Given the description of an element on the screen output the (x, y) to click on. 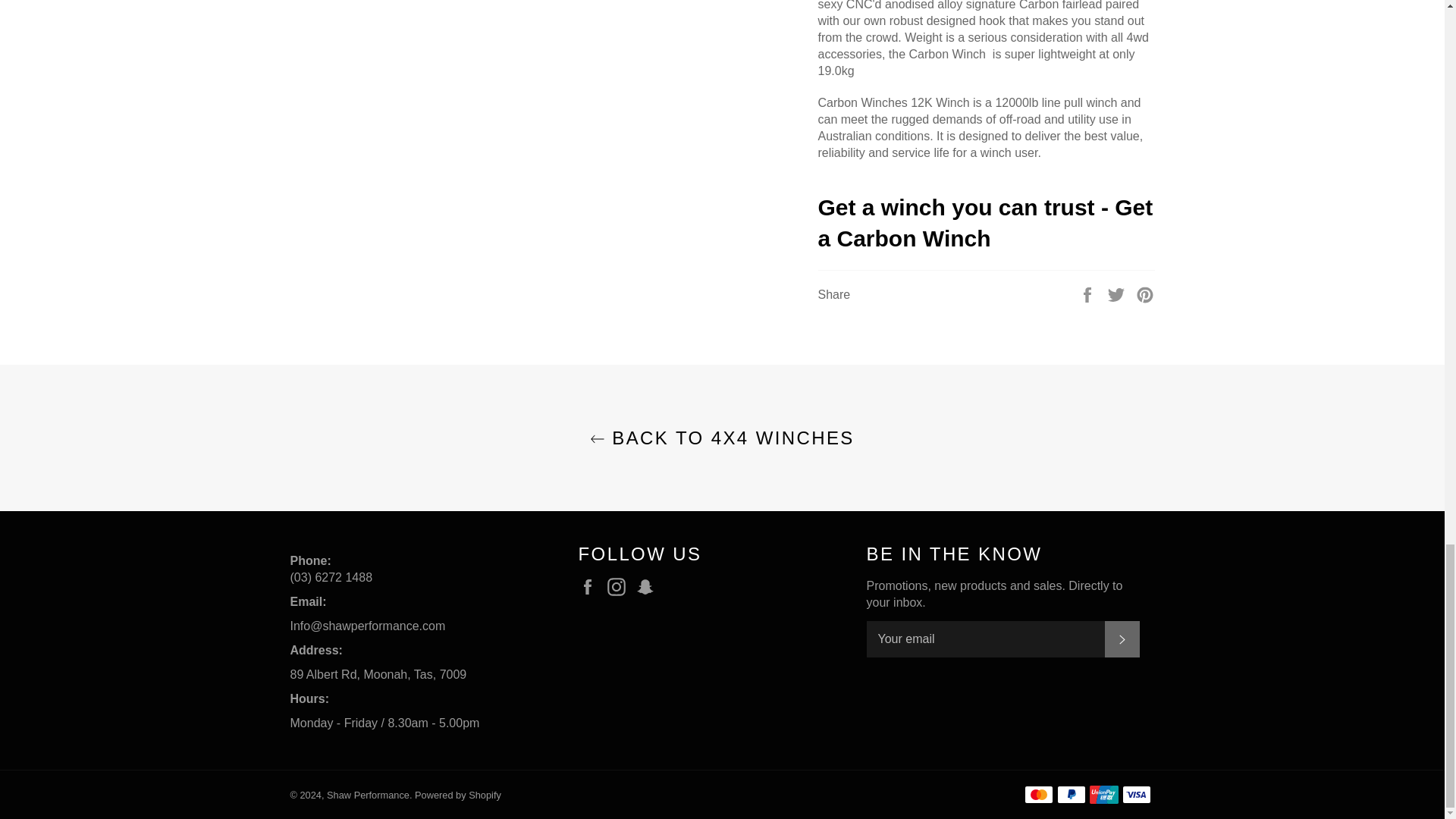
BACK TO 4X4 WINCHES (721, 437)
Share on Facebook (1088, 293)
Shaw Performance on Facebook (591, 587)
Snapchat (649, 587)
Shaw Performance on Snapchat (649, 587)
Tweet on Twitter (1117, 293)
Shaw Performance (367, 794)
Tweet on Twitter (1117, 293)
Pin on Pinterest (1144, 293)
Facebook (591, 587)
Share on Facebook (1088, 293)
SUBSCRIBE (1120, 638)
Pin on Pinterest (1144, 293)
Shaw Performance on Instagram (620, 587)
Instagram (620, 587)
